Given the description of an element on the screen output the (x, y) to click on. 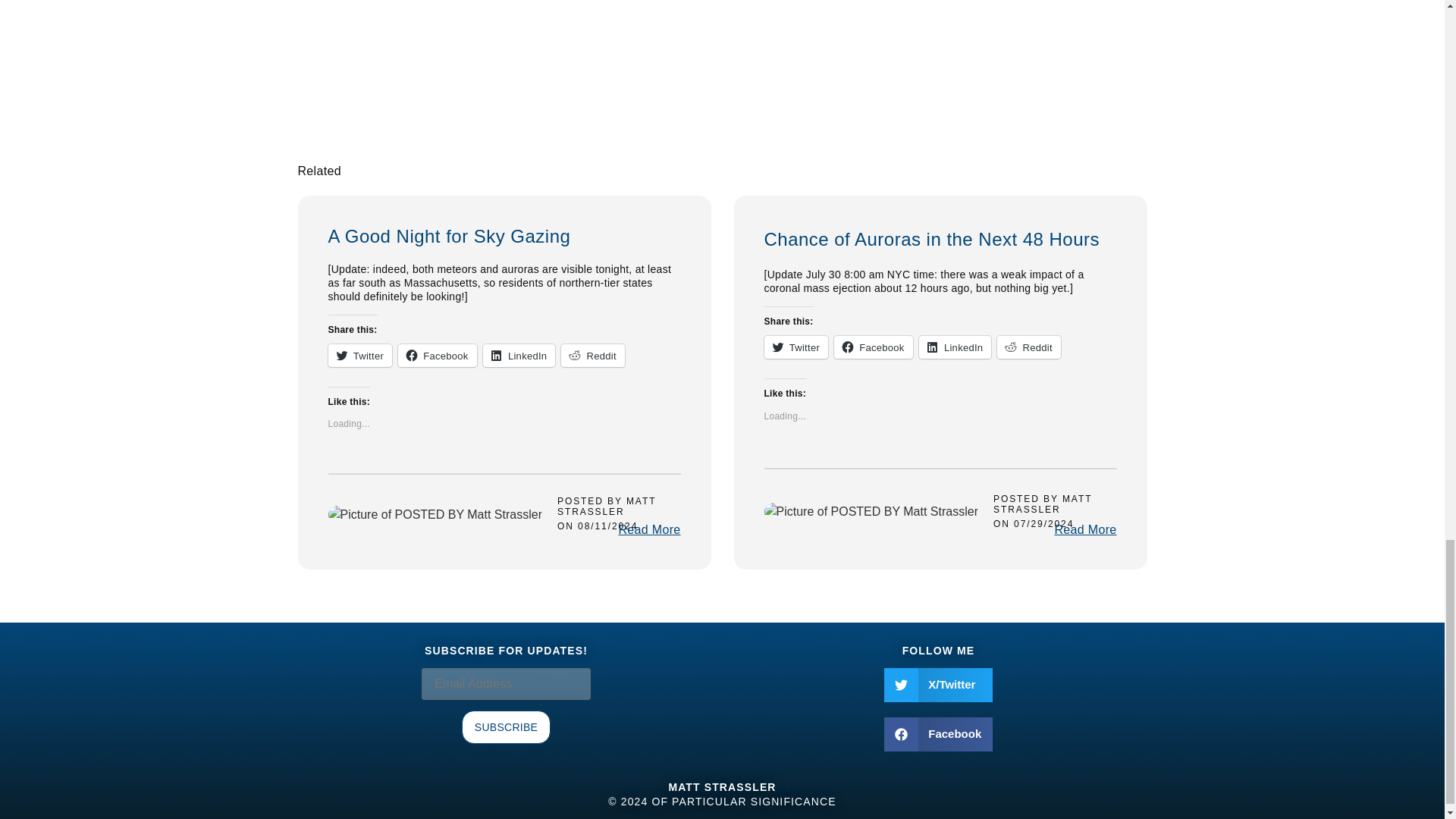
Comment Form (581, 76)
Click to share on Reddit (592, 354)
Click to share on LinkedIn (519, 354)
Click to share on Twitter (796, 346)
Click to share on Facebook (437, 354)
Click to share on Reddit (1029, 346)
Click to share on LinkedIn (954, 346)
Click to share on Facebook (873, 346)
Click to share on Twitter (359, 354)
